Given the description of an element on the screen output the (x, y) to click on. 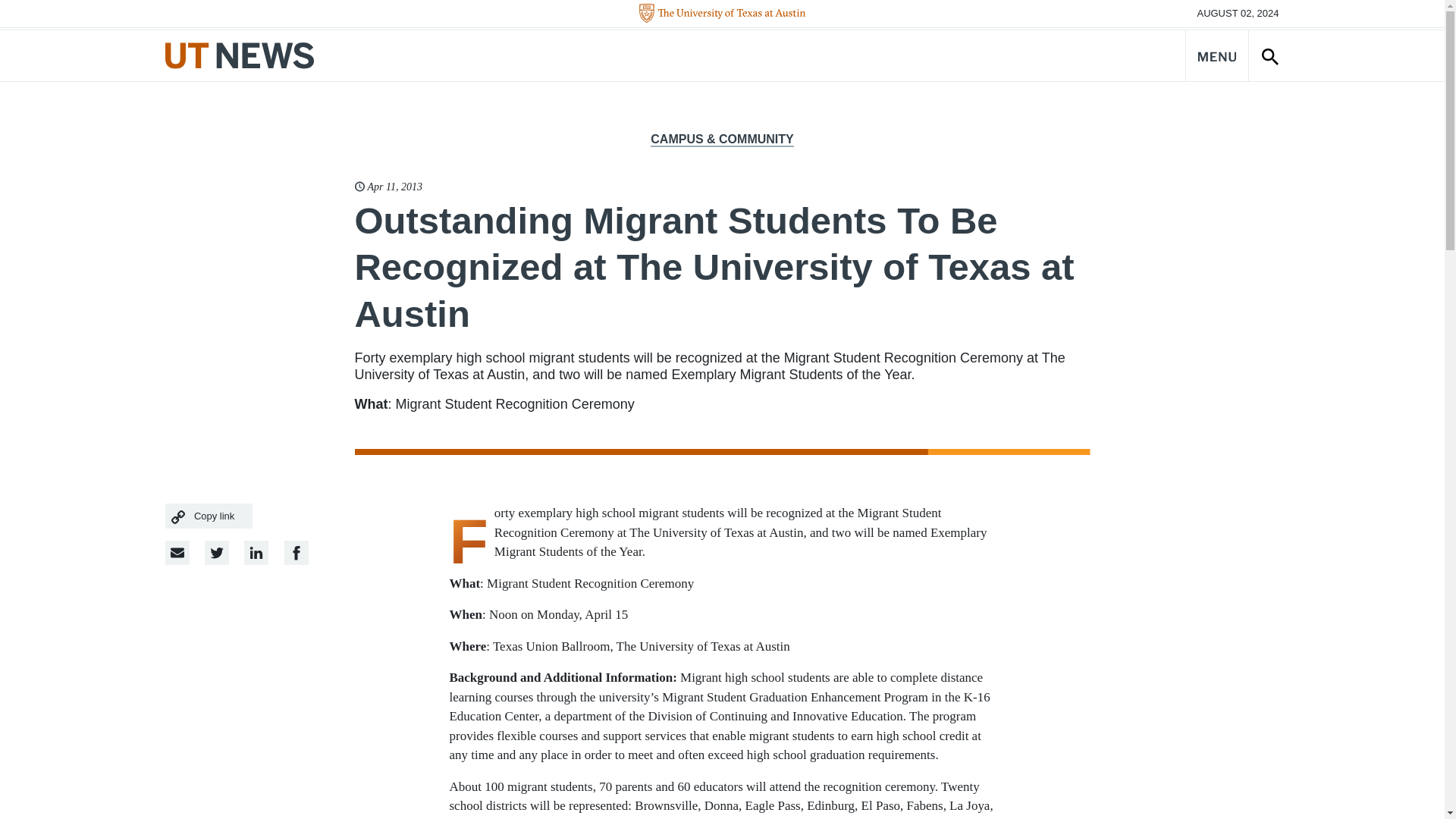
Facebook Share Link (255, 552)
UT News (239, 55)
Navigation (1216, 55)
Copy link (209, 515)
Twitter Share Link (216, 552)
LinkedIn Share Link (295, 552)
The University of Texas at Austin (722, 13)
Email Share Link (177, 552)
